Given the description of an element on the screen output the (x, y) to click on. 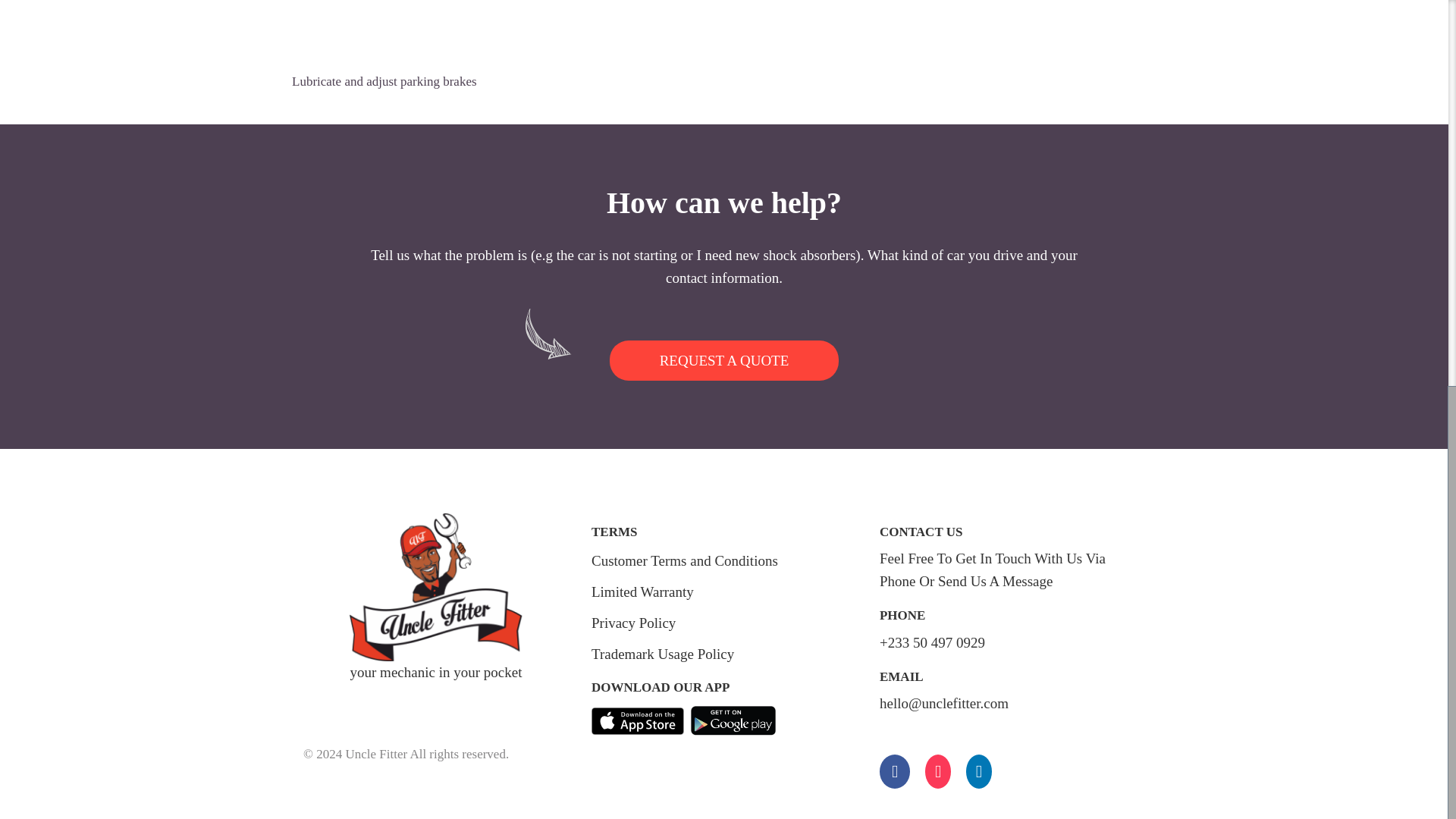
REQUEST A QUOTE (725, 360)
Limited Warranty (642, 591)
Privacy Policy (633, 622)
Trademark Usage Policy (662, 653)
Customer Terms and Conditions (684, 560)
